Given the description of an element on the screen output the (x, y) to click on. 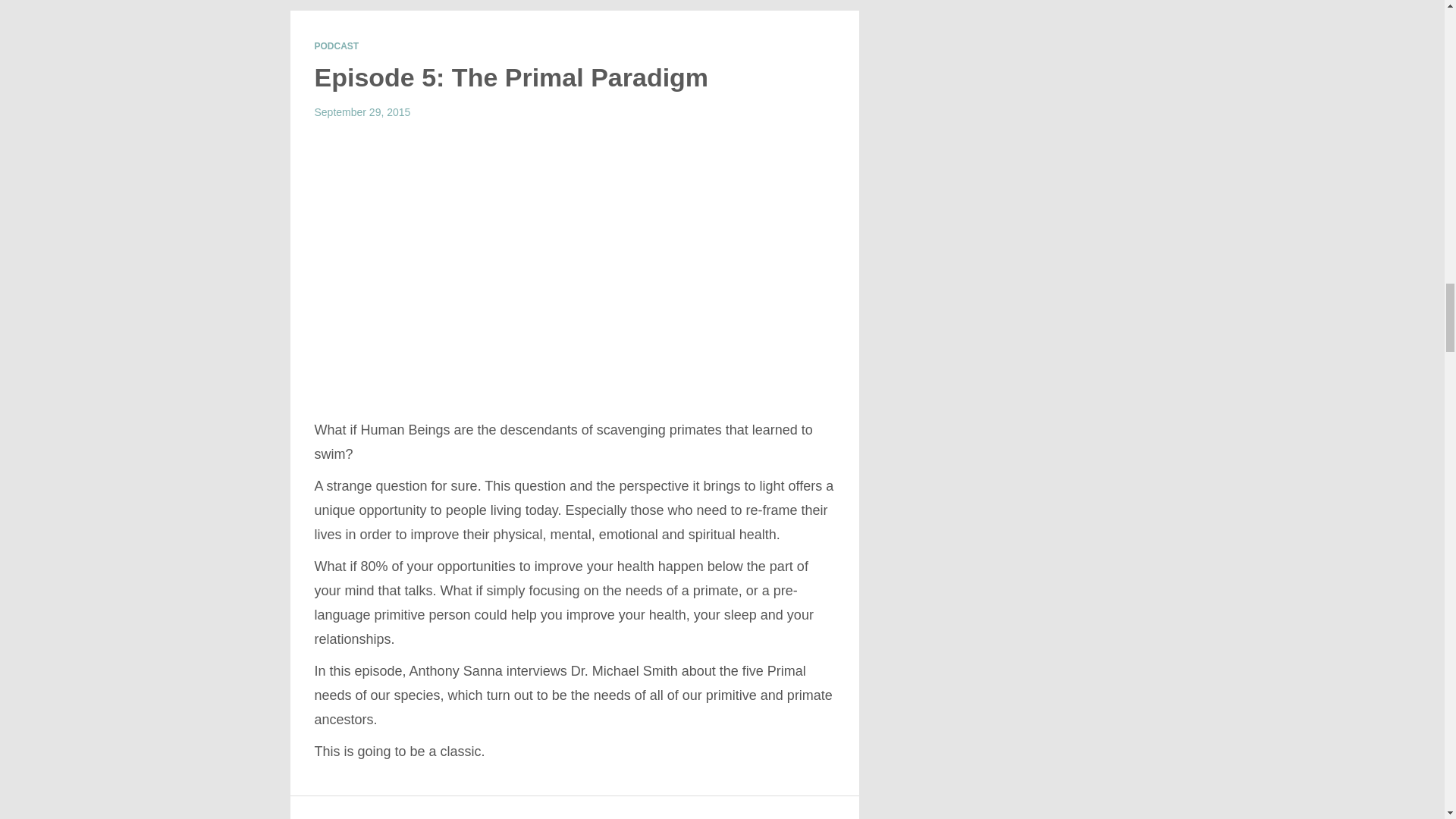
PODCAST (336, 45)
September 29, 2015 (362, 111)
Permalink to Episode 5: The Primal Paradigm (510, 77)
Episode 5: The Primal Paradigm (510, 77)
